Given the description of an element on the screen output the (x, y) to click on. 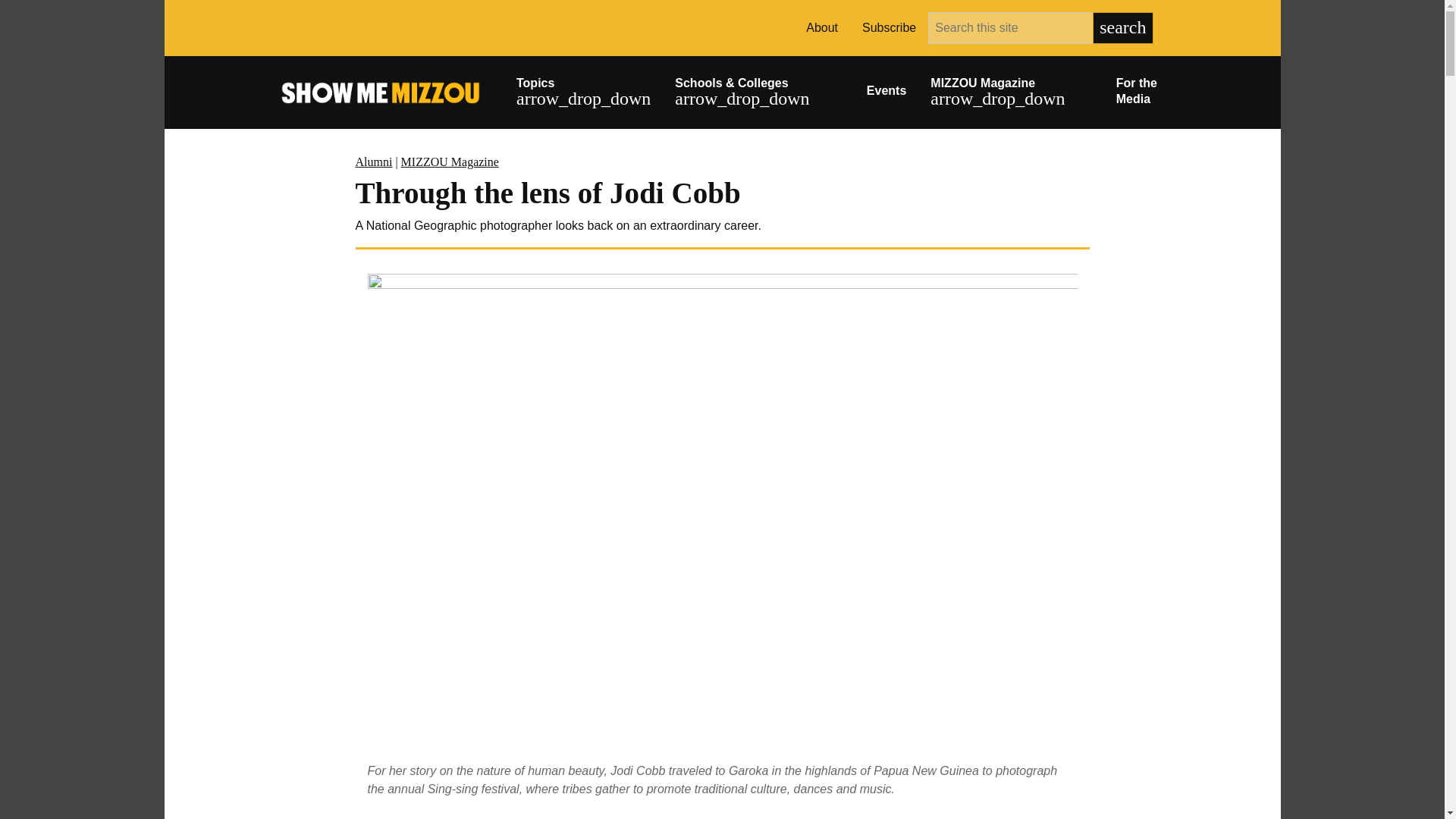
For the Media (1139, 92)
search (1123, 28)
Subscribe (889, 28)
University of Missouri (382, 30)
Events (886, 92)
MU Logo (301, 27)
About (821, 28)
